Given the description of an element on the screen output the (x, y) to click on. 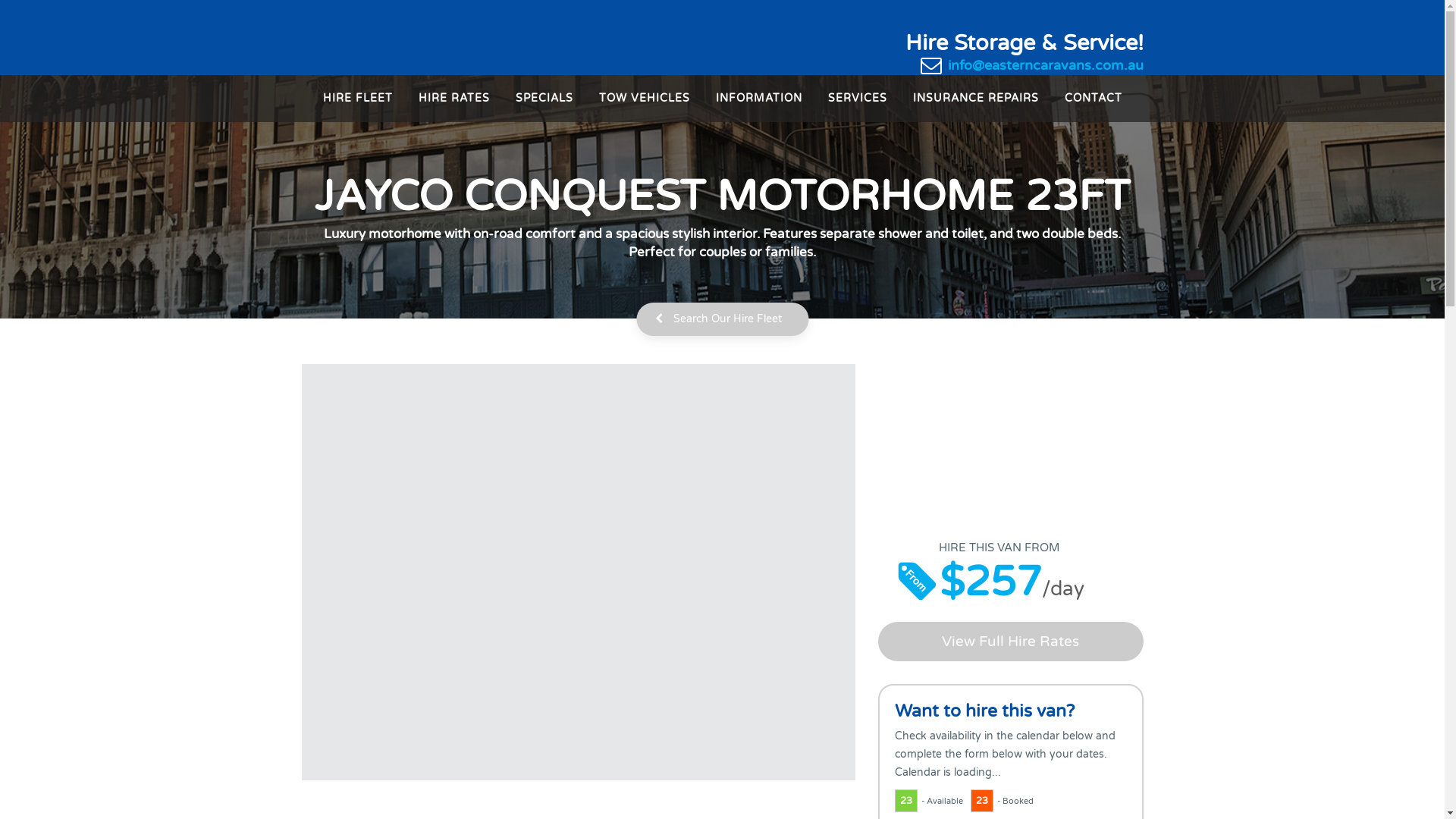
Search Our Hire Fleet Element type: text (722, 318)
SPECIALS Element type: text (543, 105)
HIRE FLEET Element type: text (356, 105)
CONTACT Element type: text (1092, 105)
TOW VEHICLES Element type: text (643, 105)
SERVICES Element type: text (856, 105)
info@easterncaravans.com.au Element type: text (1045, 64)
View Full Hire Rates Element type: text (1010, 641)
23 Element type: text (905, 800)
INFORMATION Element type: text (757, 105)
INSURANCE REPAIRS Element type: text (974, 105)
HIRE RATES Element type: text (453, 105)
